Given the description of an element on the screen output the (x, y) to click on. 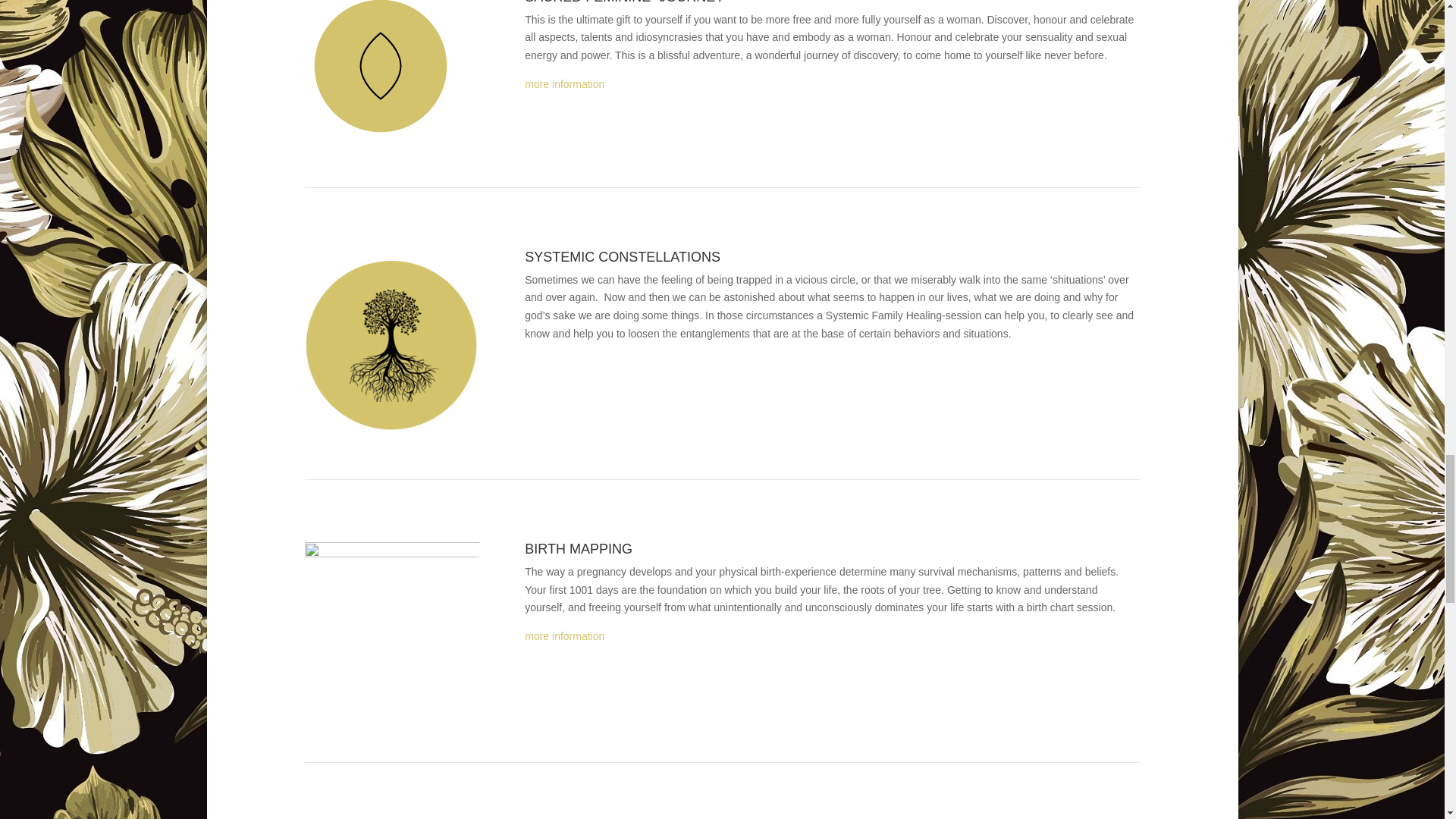
sacredfemininejourney (564, 83)
more information (564, 635)
Babuchka GIK BM site (391, 629)
Birth Mapping (564, 635)
more information (564, 83)
Schermafbeelding 2020-08-05 om 15.58.44 (391, 342)
knopvrouw1 (380, 70)
